Given the description of an element on the screen output the (x, y) to click on. 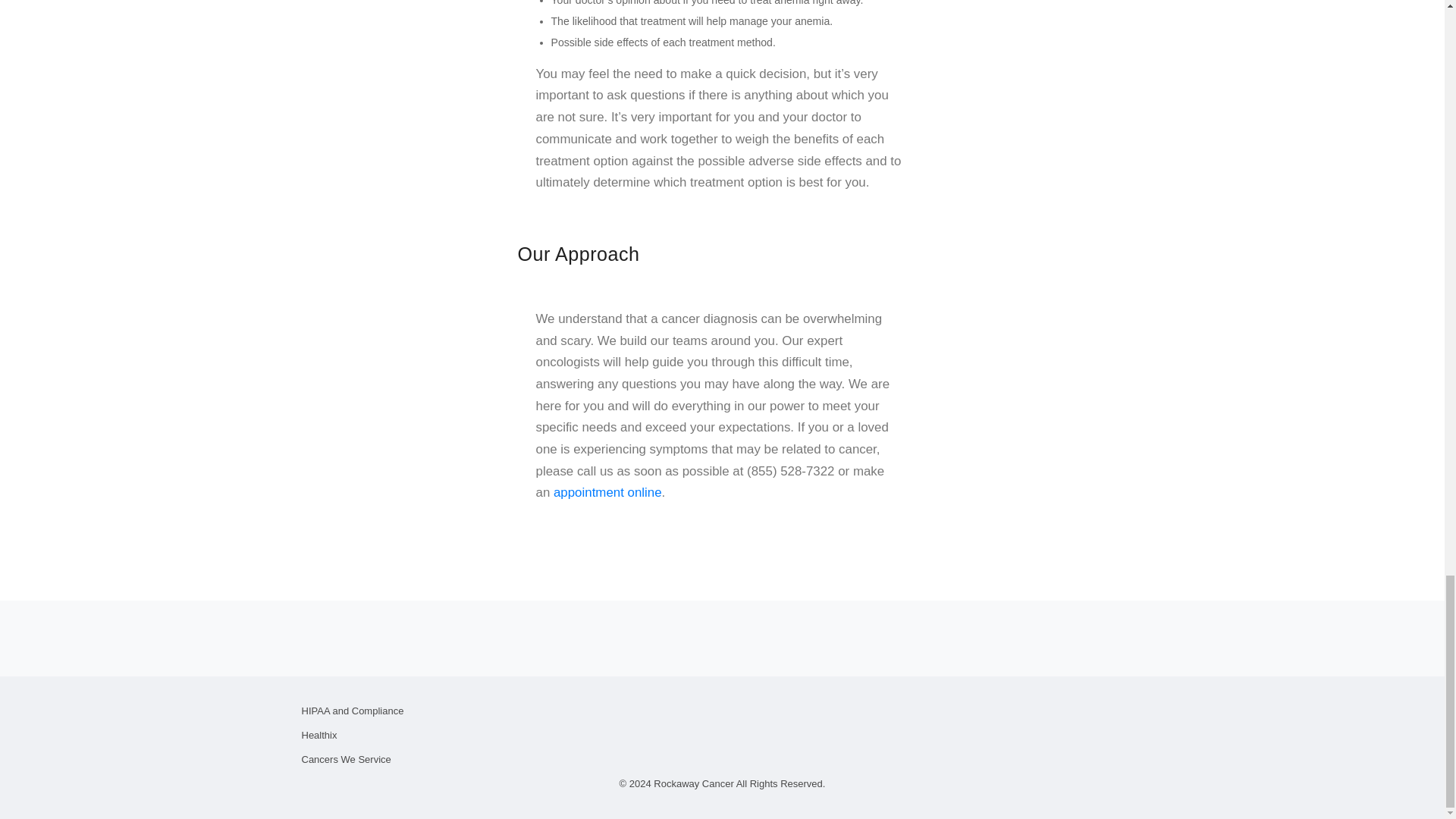
HIPAA and Compliance (352, 710)
appointment online (607, 492)
Cancers We Service (346, 758)
Healthix (319, 735)
